Given the description of an element on the screen output the (x, y) to click on. 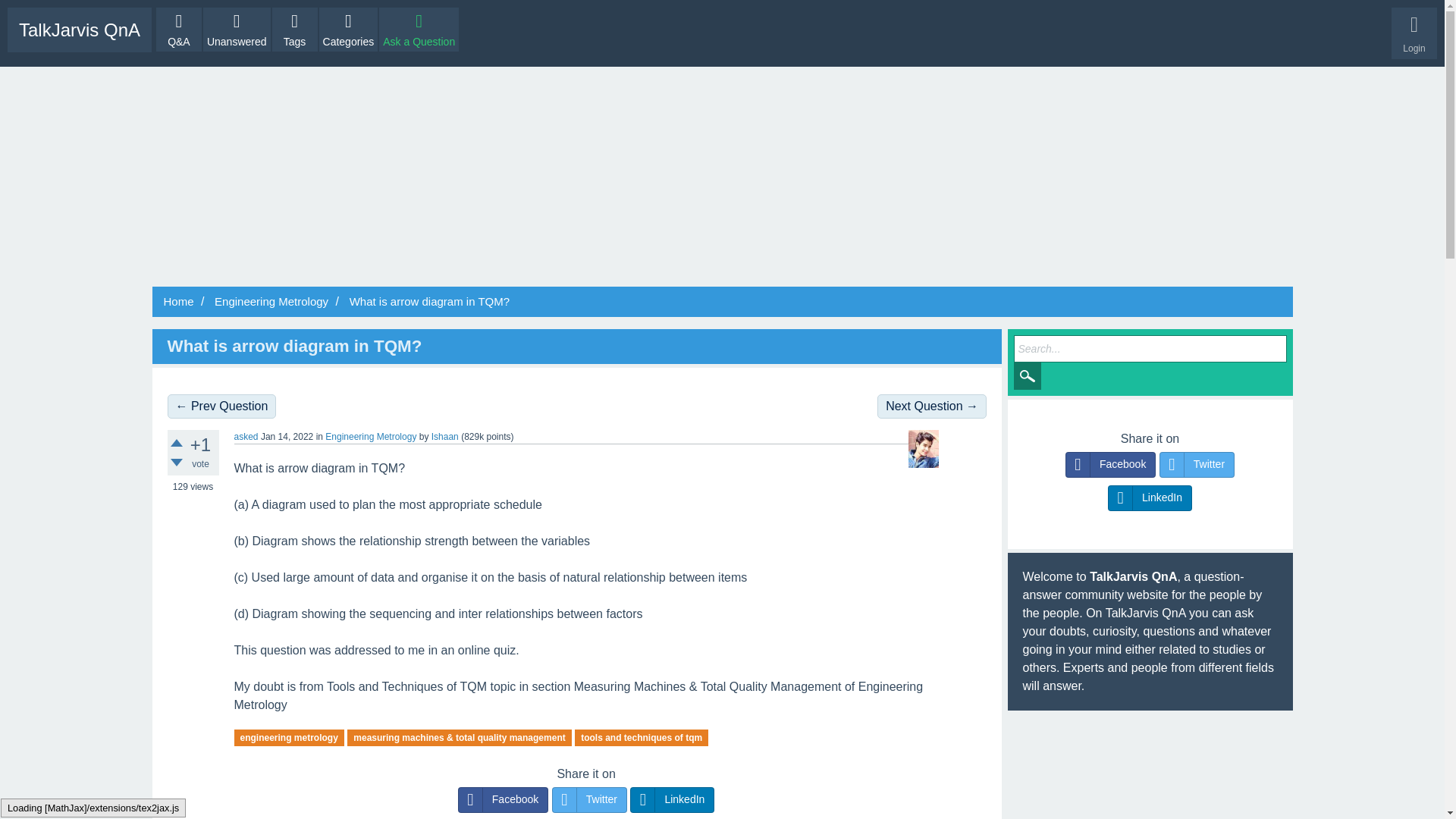
Click to vote down (176, 462)
Engineering Metrology (270, 300)
asked (244, 436)
What is arrow diagram in TQM? (294, 345)
LinkedIn (672, 800)
Click to vote up (176, 442)
Ask a Question (418, 29)
Facebook (503, 800)
Home (178, 300)
What is the formula for process capability index? (221, 405)
What is the use of a laser beam in image formation? (932, 405)
tools and techniques of tqm (641, 737)
Engineering Metrology (370, 436)
TalkJarvis QnA (79, 29)
Unanswered (236, 29)
